Given the description of an element on the screen output the (x, y) to click on. 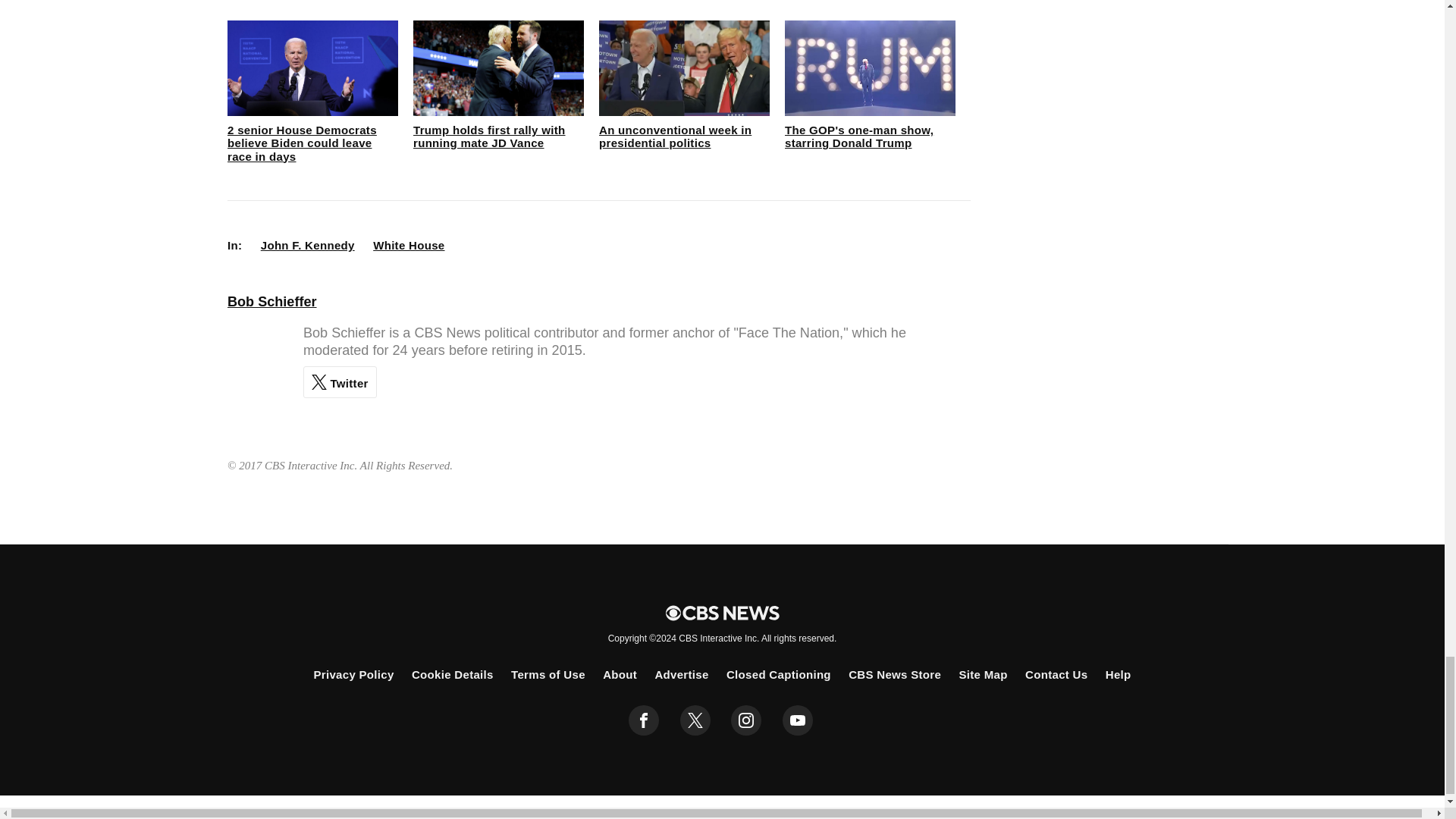
twitter (694, 720)
instagram (745, 720)
facebook (643, 720)
youtube (797, 720)
